Given the description of an element on the screen output the (x, y) to click on. 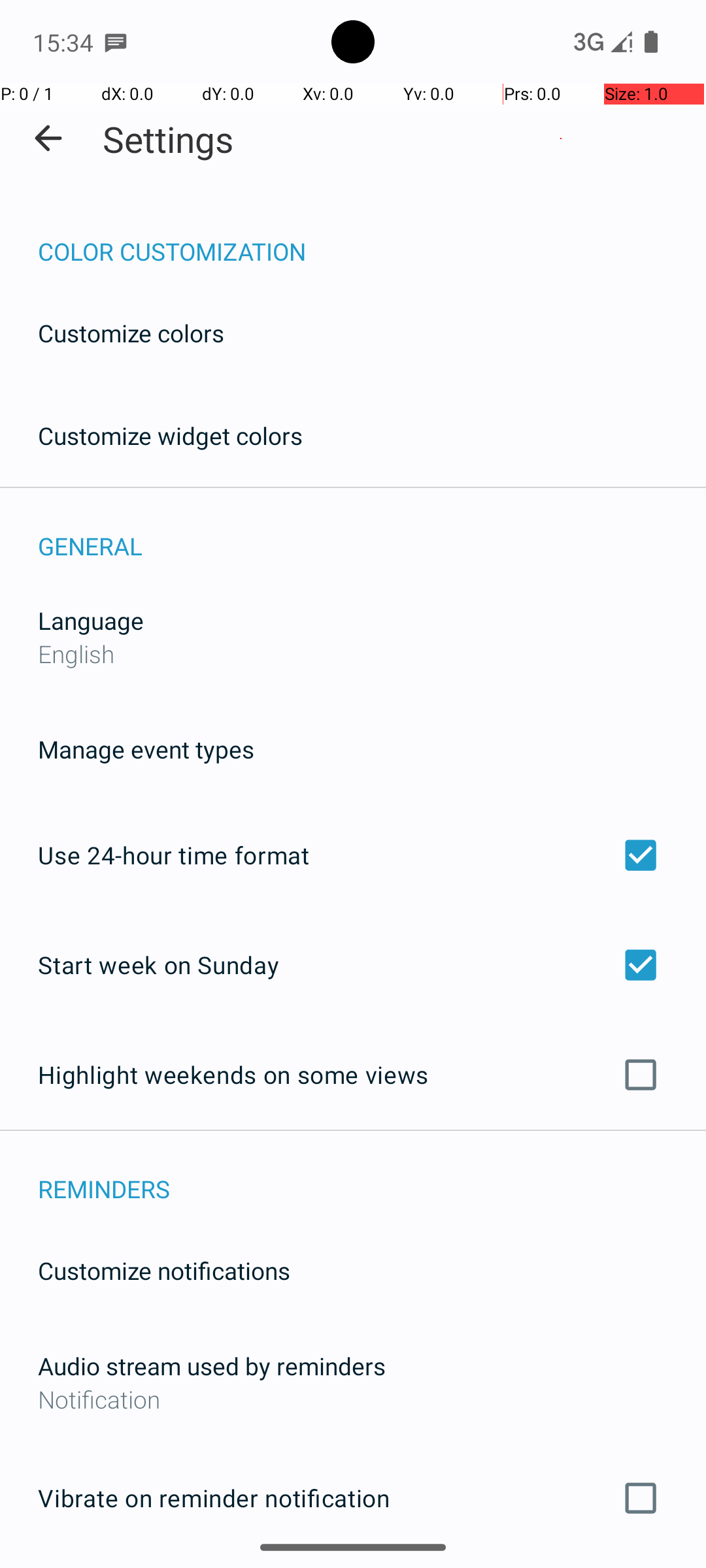
COLOR CUSTOMIZATION Element type: android.widget.TextView (371, 237)
GENERAL Element type: android.widget.TextView (371, 532)
REMINDERS Element type: android.widget.TextView (371, 1174)
Customize colors Element type: android.widget.TextView (130, 332)
Customize widget colors Element type: android.widget.TextView (170, 435)
English Element type: android.widget.TextView (75, 653)
Manage event types Element type: android.widget.TextView (145, 748)
Use 24-hour time format Element type: android.widget.CheckBox (352, 855)
Start week on Sunday Element type: android.widget.CheckBox (352, 964)
Highlight weekends on some views Element type: android.widget.CheckBox (352, 1074)
Customize notifications Element type: android.widget.TextView (163, 1270)
Audio stream used by reminders Element type: android.widget.TextView (211, 1365)
Notification Element type: android.widget.TextView (352, 1398)
Vibrate on reminder notification Element type: android.widget.CheckBox (352, 1497)
Loop reminders until dismissed Element type: android.widget.CheckBox (352, 1567)
